Given the description of an element on the screen output the (x, y) to click on. 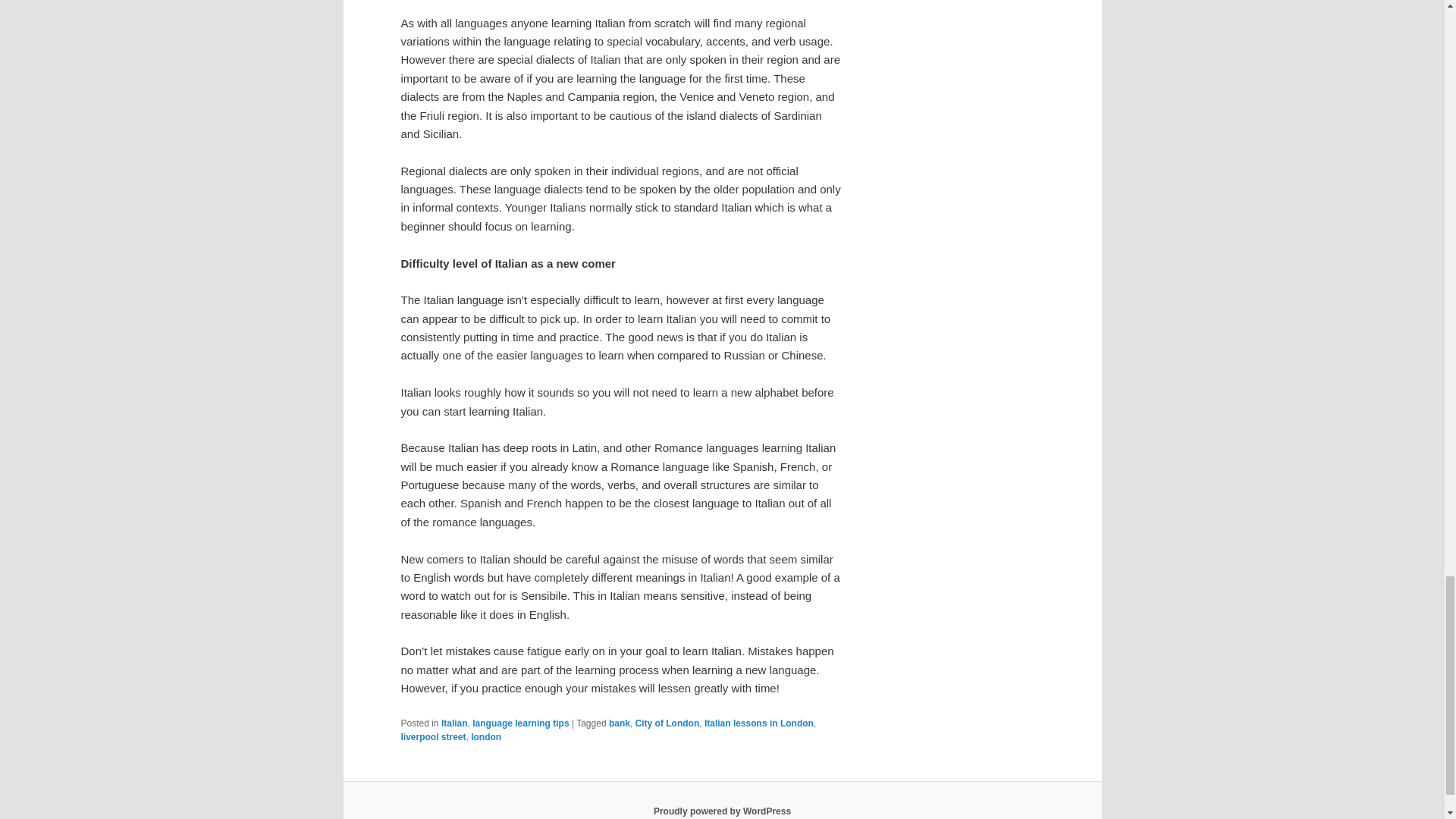
Semantic Personal Publishing Platform (721, 810)
bank (619, 723)
City of London (667, 723)
language learning tips (520, 723)
liverpool street (432, 737)
Italian (454, 723)
Italian lessons in London (758, 723)
